Given the description of an element on the screen output the (x, y) to click on. 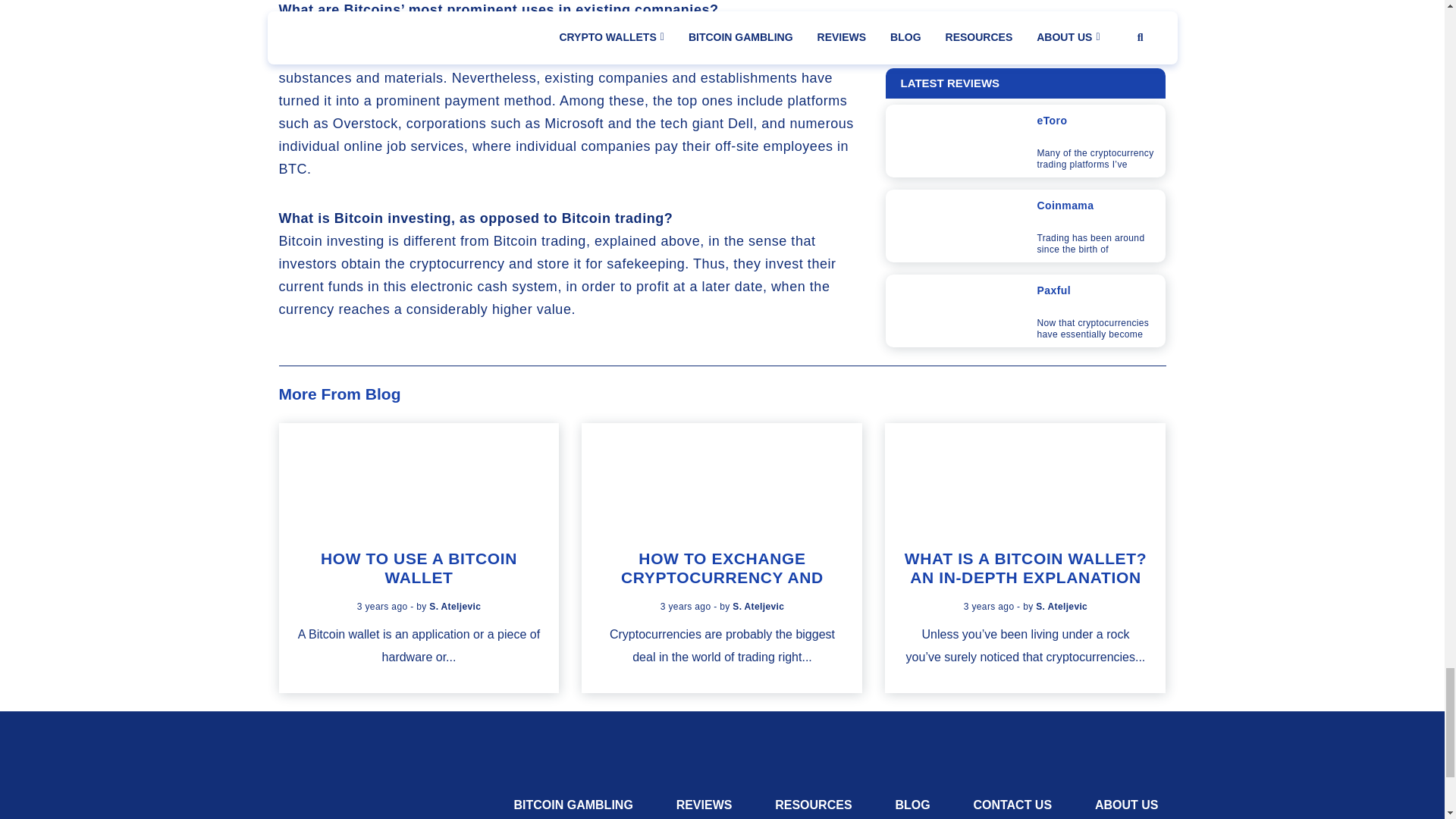
RESOURCES (812, 803)
S. Ateljevic (454, 606)
HOW TO EXCHANGE CRYPTOCURRENCY AND START TRADING (722, 577)
How To Exchange Cryptocurrency and Start Trading (721, 478)
S. Ateljevic (758, 606)
BITCOIN GAMBLING (573, 803)
HOW TO USE A BITCOIN WALLET (418, 567)
S. Ateljevic (1061, 606)
What is a Bitcoin Wallet? An In-Depth Explanation (1024, 478)
BLOG (912, 803)
